Given the description of an element on the screen output the (x, y) to click on. 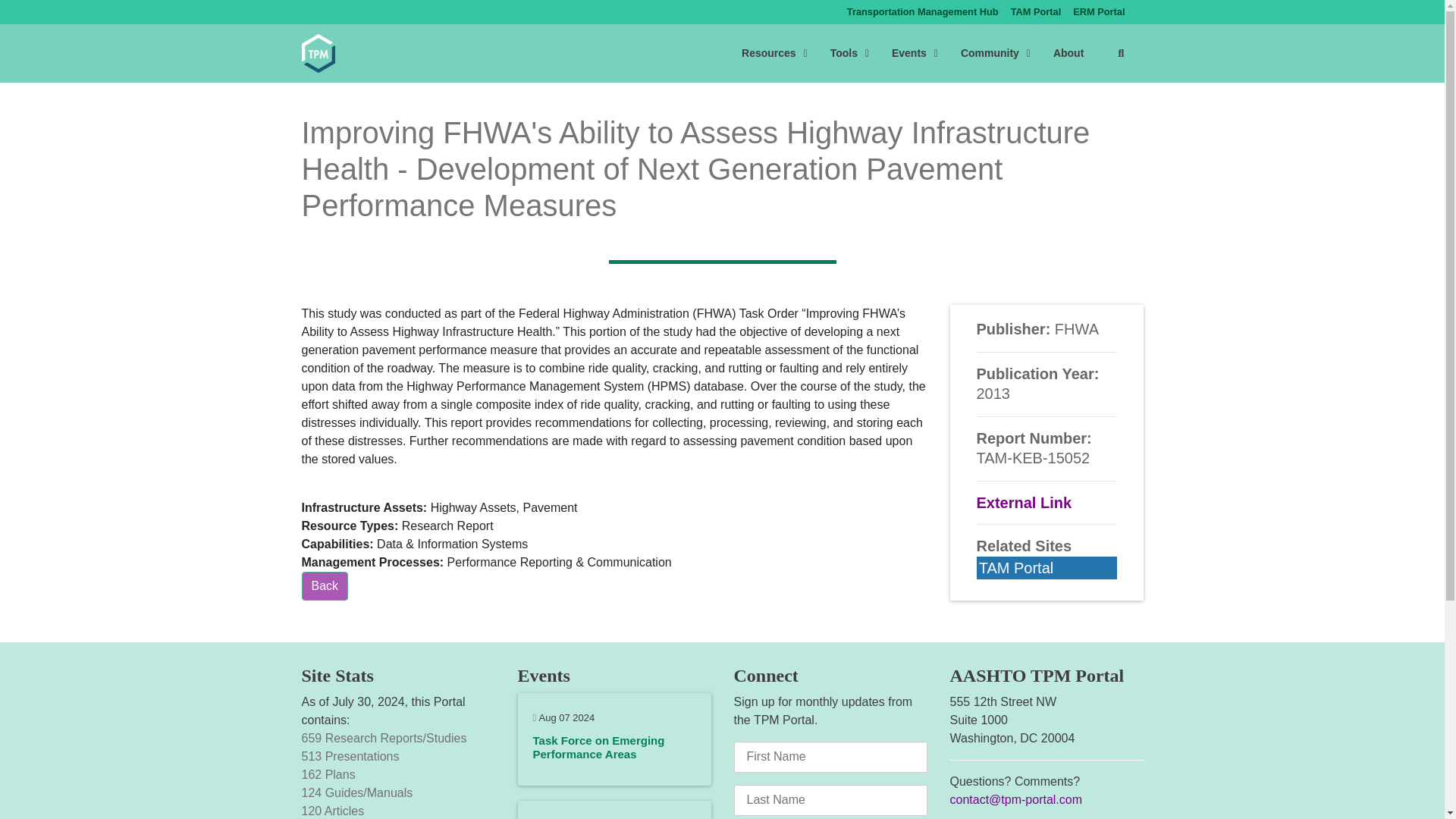
Search (1119, 53)
Back (325, 585)
Transportation Management Hub (922, 12)
TAM Portal (934, 53)
ERM Portal (1035, 12)
Transportation Management Hub (1099, 12)
TAM Portal (922, 12)
ERM Portal (1035, 12)
